Given the description of an element on the screen output the (x, y) to click on. 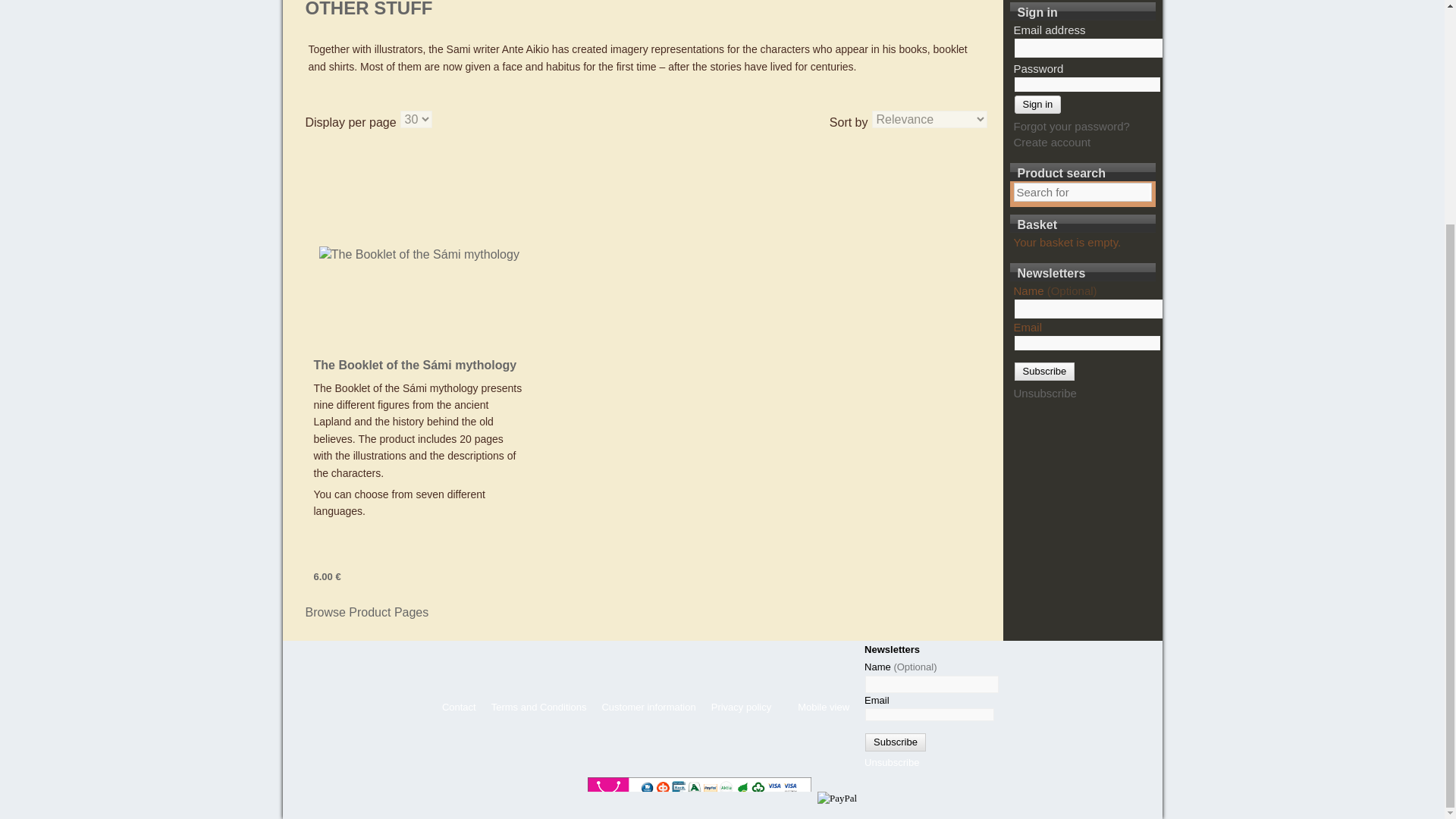
Go to product (419, 254)
Start search (1138, 192)
